Given the description of an element on the screen output the (x, y) to click on. 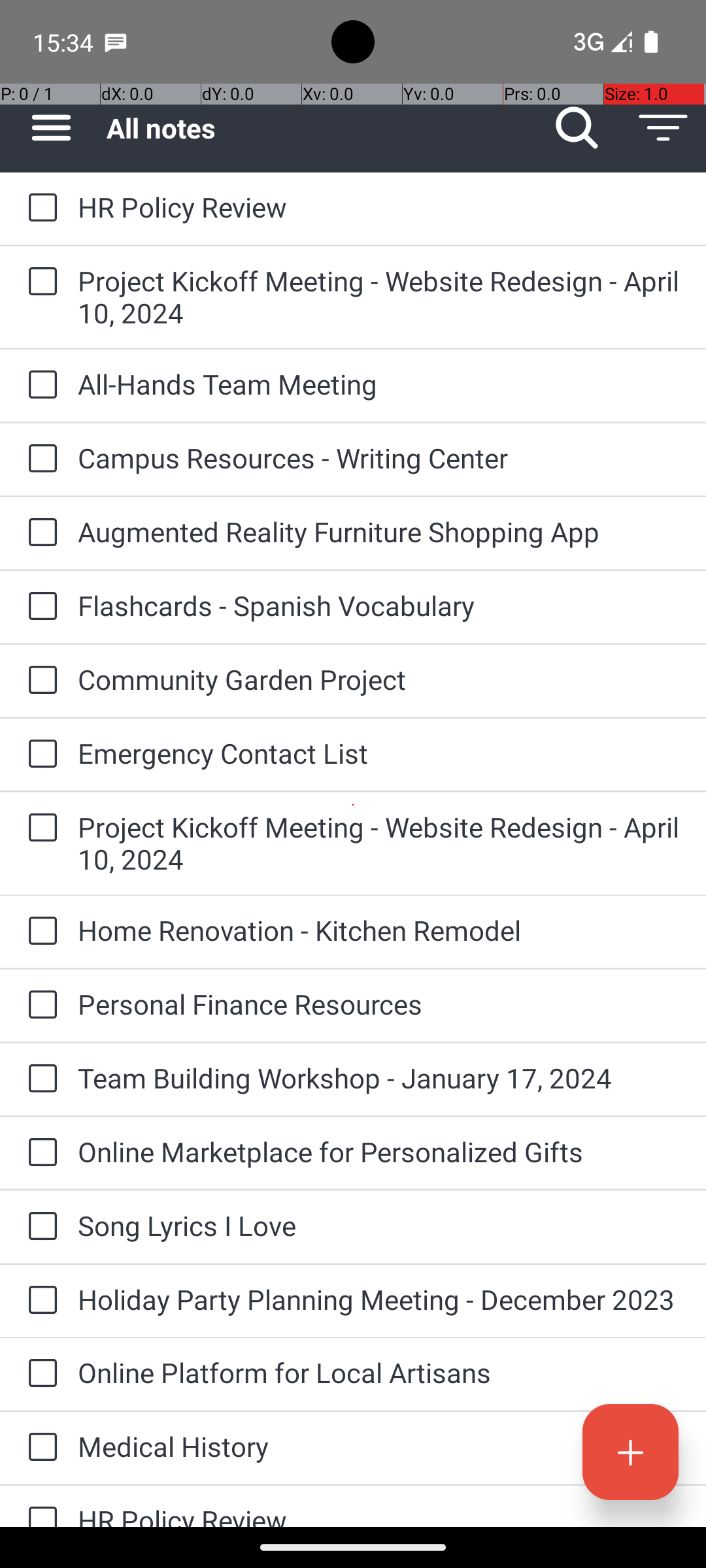
to-do: HR Policy Review Element type: android.widget.CheckBox (38, 208)
HR Policy Review Element type: android.widget.TextView (378, 206)
to-do: Project Kickoff Meeting - Website Redesign - April 10, 2024 Element type: android.widget.CheckBox (38, 282)
Project Kickoff Meeting - Website Redesign - April 10, 2024 Element type: android.widget.TextView (378, 296)
to-do: All-Hands Team Meeting Element type: android.widget.CheckBox (38, 385)
All-Hands Team Meeting Element type: android.widget.TextView (378, 383)
to-do: Campus Resources - Writing Center Element type: android.widget.CheckBox (38, 459)
Campus Resources - Writing Center Element type: android.widget.TextView (378, 457)
to-do: Augmented Reality Furniture Shopping App Element type: android.widget.CheckBox (38, 533)
Augmented Reality Furniture Shopping App Element type: android.widget.TextView (378, 531)
to-do: Flashcards - Spanish Vocabulary Element type: android.widget.CheckBox (38, 606)
Flashcards - Spanish Vocabulary Element type: android.widget.TextView (378, 604)
to-do: Community Garden Project Element type: android.widget.CheckBox (38, 680)
Community Garden Project Element type: android.widget.TextView (378, 678)
to-do: Emergency Contact List Element type: android.widget.CheckBox (38, 754)
Emergency Contact List Element type: android.widget.TextView (378, 752)
to-do: Home Renovation - Kitchen Remodel Element type: android.widget.CheckBox (38, 931)
Home Renovation - Kitchen Remodel Element type: android.widget.TextView (378, 929)
to-do: Personal Finance Resources Element type: android.widget.CheckBox (38, 1005)
Personal Finance Resources Element type: android.widget.TextView (378, 1003)
to-do: Team Building Workshop - January 17, 2024 Element type: android.widget.CheckBox (38, 1079)
Team Building Workshop - January 17, 2024 Element type: android.widget.TextView (378, 1077)
to-do: Online Marketplace for Personalized Gifts Element type: android.widget.CheckBox (38, 1153)
Online Marketplace for Personalized Gifts Element type: android.widget.TextView (378, 1151)
to-do: Song Lyrics I Love Element type: android.widget.CheckBox (38, 1227)
Song Lyrics I Love Element type: android.widget.TextView (378, 1224)
to-do: Holiday Party Planning Meeting - December 2023 Element type: android.widget.CheckBox (38, 1300)
Holiday Party Planning Meeting - December 2023 Element type: android.widget.TextView (378, 1298)
to-do: Online Platform for Local Artisans Element type: android.widget.CheckBox (38, 1373)
Online Platform for Local Artisans Element type: android.widget.TextView (378, 1371)
to-do: Medical History Element type: android.widget.CheckBox (38, 1447)
Medical History Element type: android.widget.TextView (378, 1445)
